Given the description of an element on the screen output the (x, y) to click on. 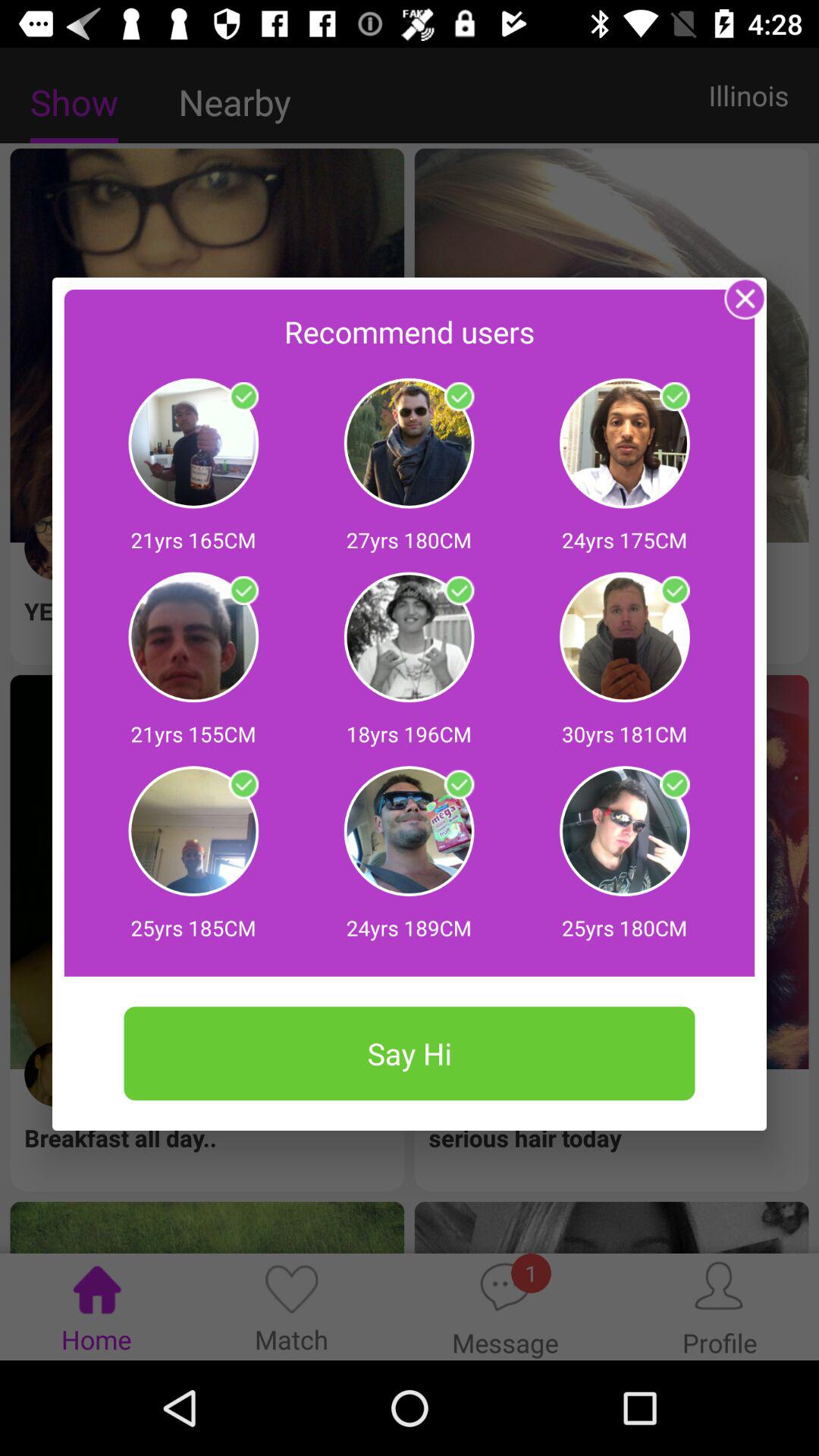
person (243, 784)
